Given the description of an element on the screen output the (x, y) to click on. 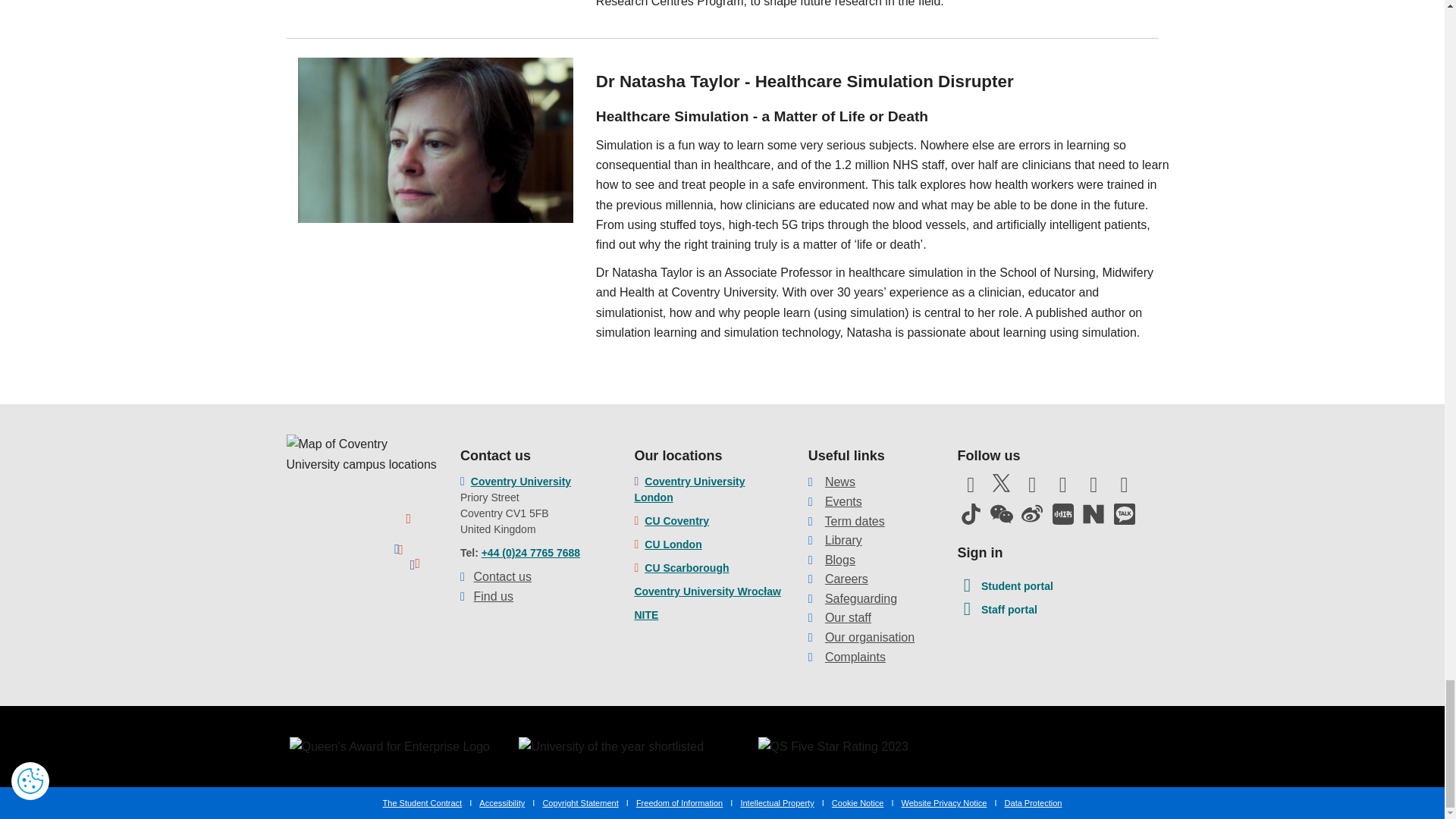
News (840, 481)
Complaints (855, 656)
University of the year shortlisted (610, 746)
Staff portal website (996, 609)
Our organisation (869, 636)
Events (843, 501)
Follow us on TikTok (970, 513)
Add us on Snapchat (1124, 489)
Connect with us on Linkedin (1093, 489)
Our staff (847, 617)
